Given the description of an element on the screen output the (x, y) to click on. 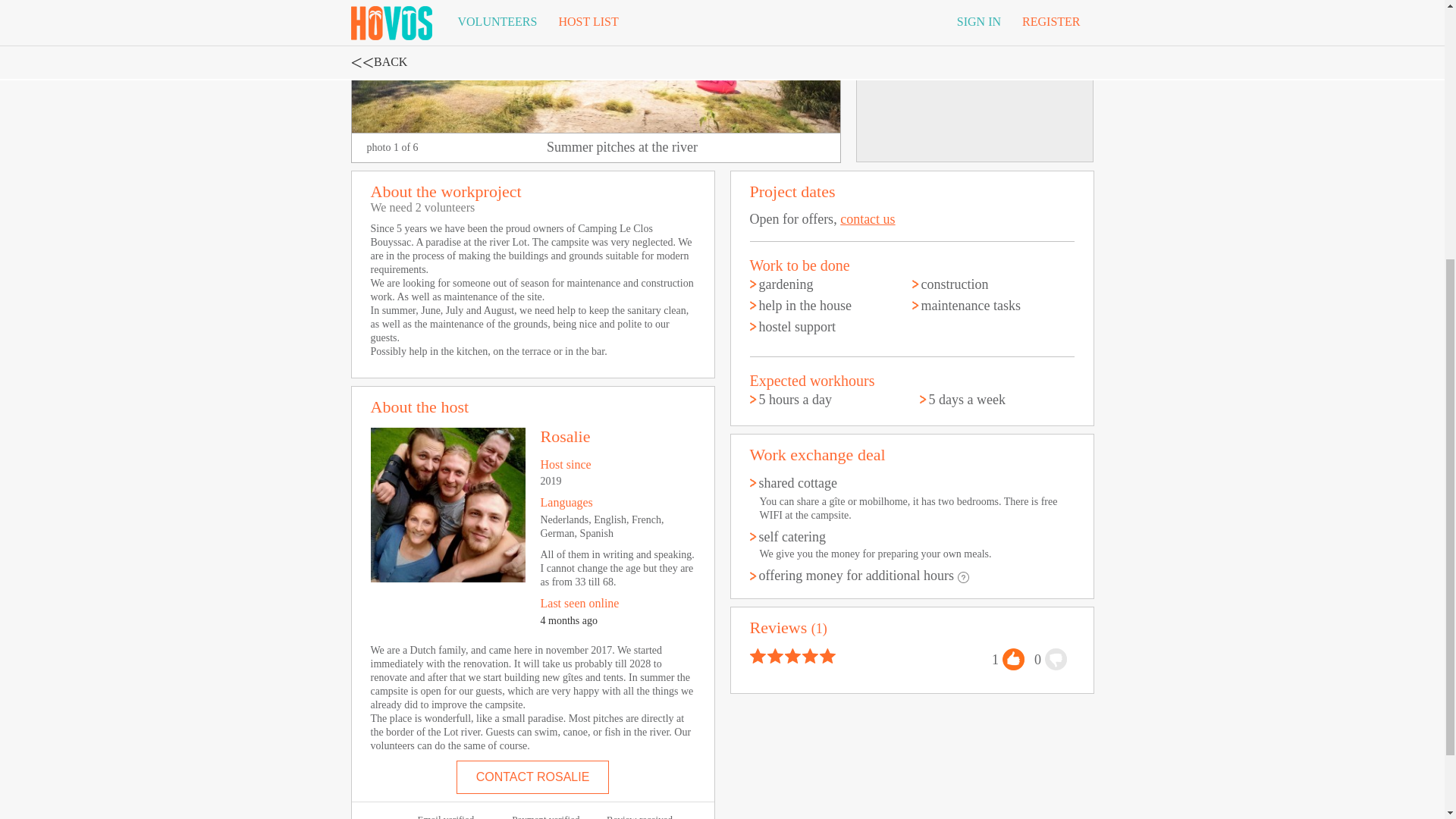
for additional hours (963, 577)
